Given the description of an element on the screen output the (x, y) to click on. 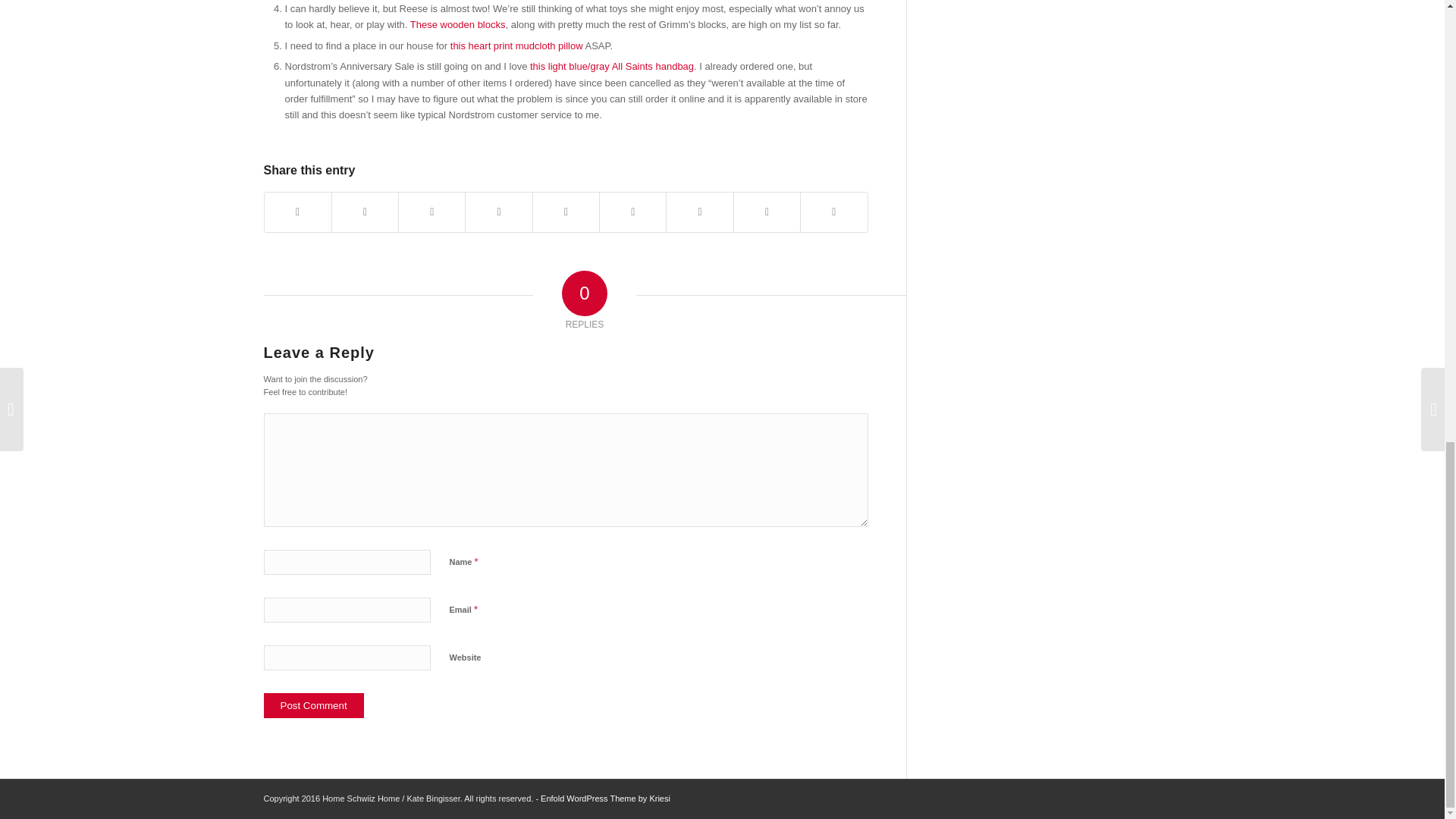
this heart print mudcloth pillow (516, 45)
Post Comment (313, 705)
These wooden blocks (457, 24)
